Given the description of an element on the screen output the (x, y) to click on. 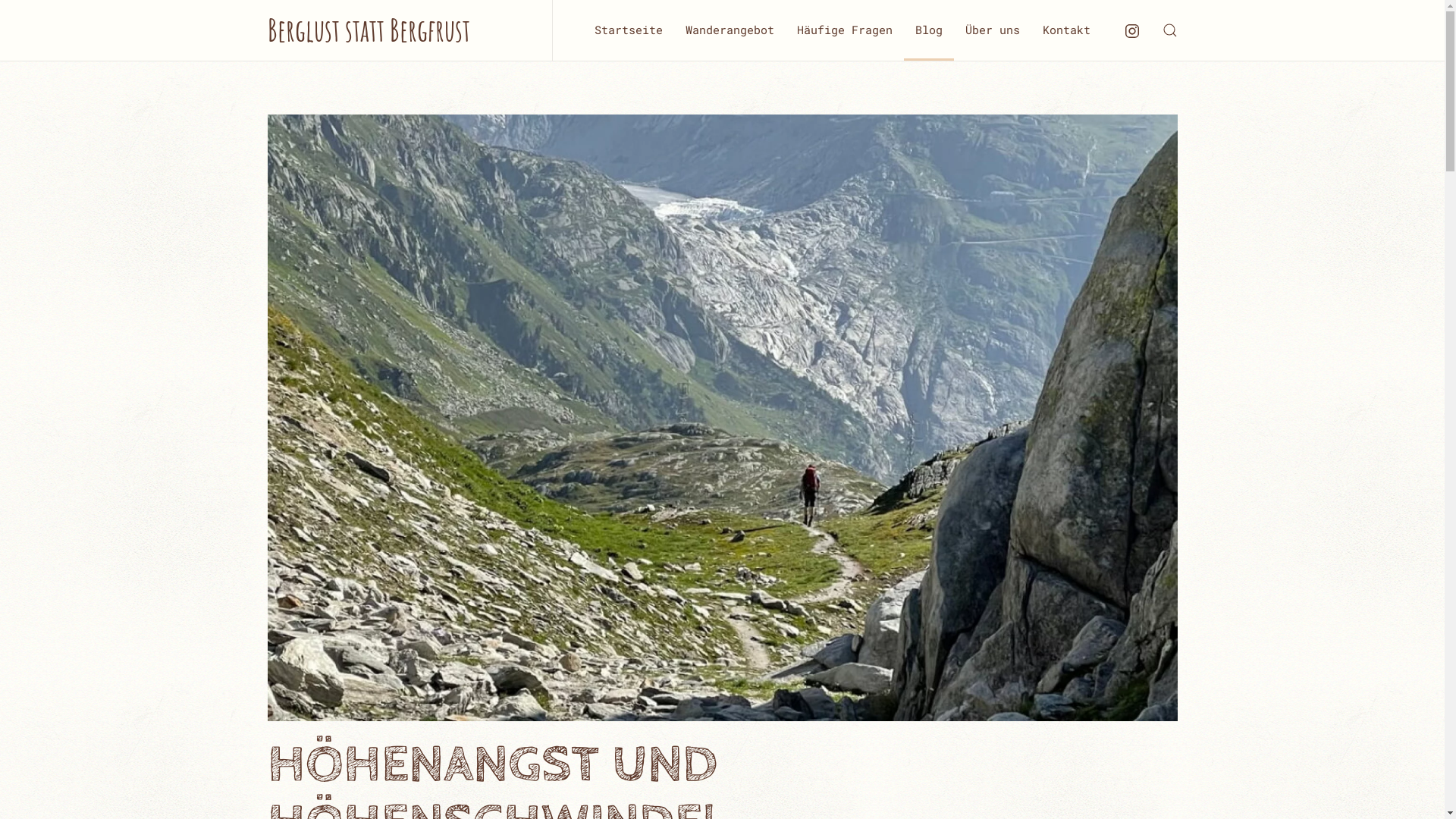
Berglust statt Bergfrust Element type: text (367, 30)
Startseite Element type: text (627, 30)
Kontakt Element type: text (1066, 30)
Blog Element type: text (928, 30)
